Given the description of an element on the screen output the (x, y) to click on. 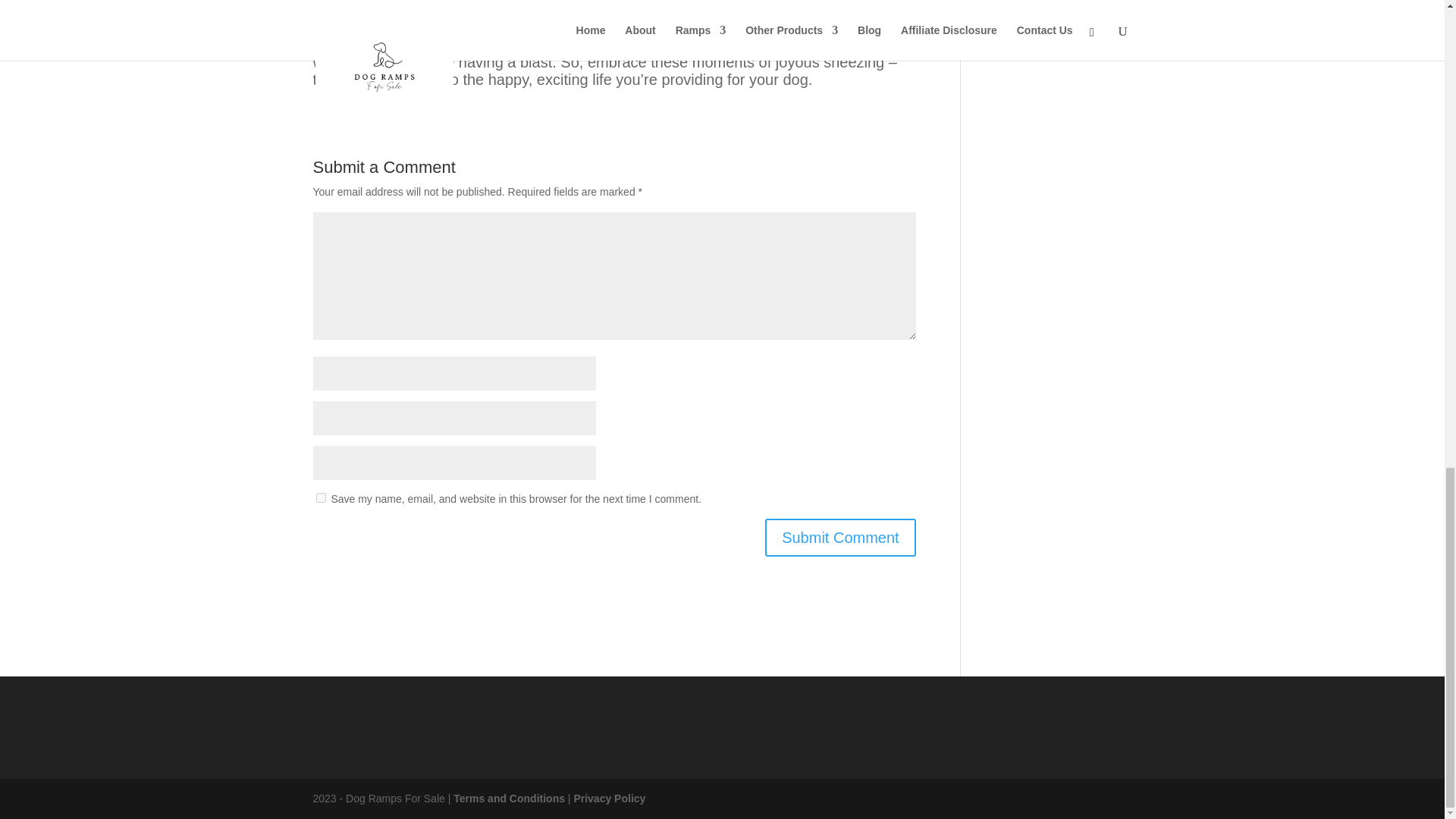
yes (319, 497)
Submit Comment (840, 537)
Submit Comment (840, 537)
